Given the description of an element on the screen output the (x, y) to click on. 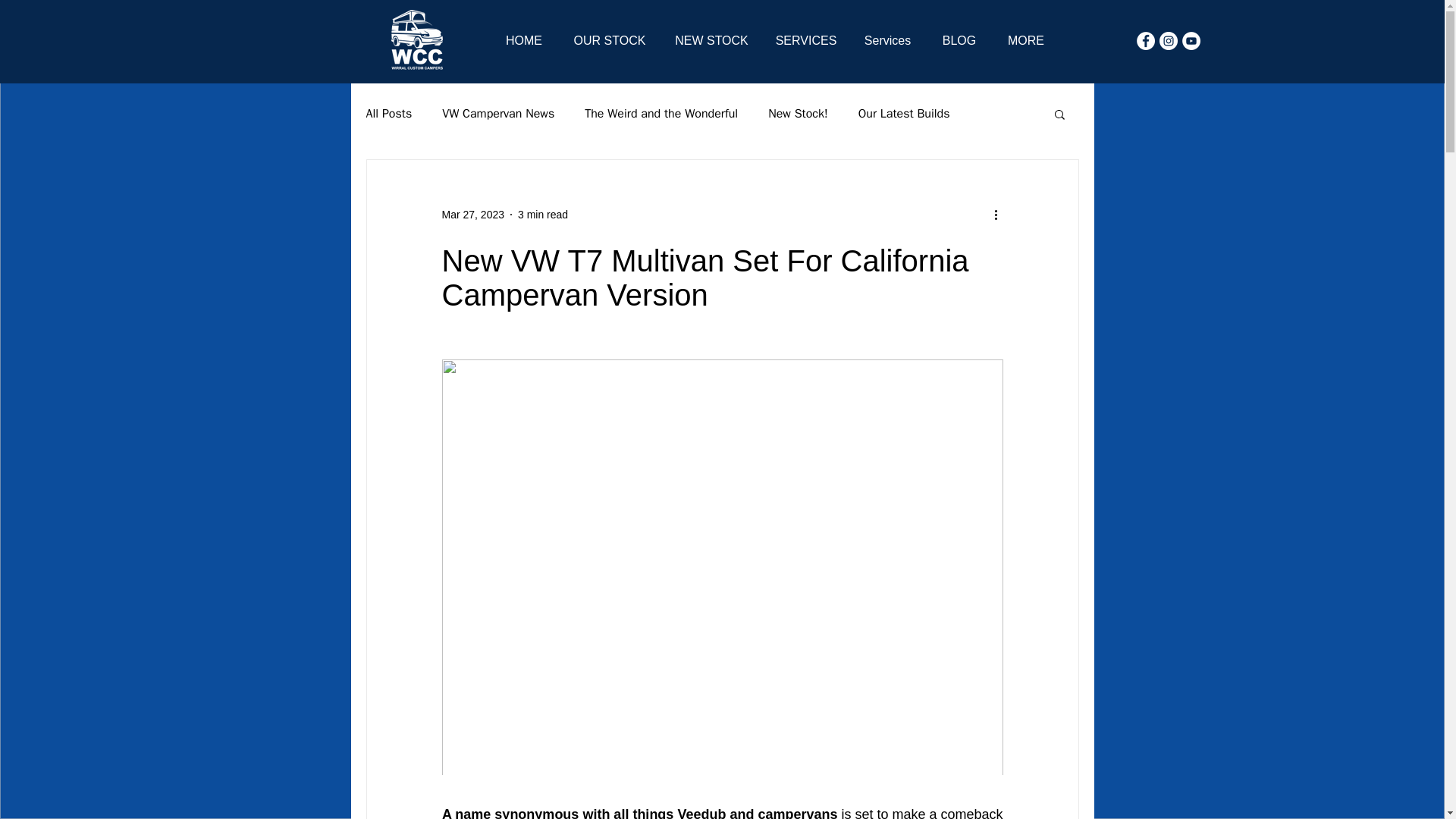
OUR STOCK (610, 40)
The Weird and the Wonderful (661, 114)
Services (887, 40)
Our Latest Builds (904, 114)
BLOG (959, 40)
SERVICES (805, 40)
VW Campervan News (498, 114)
All Posts (388, 114)
NEW STOCK (710, 40)
HOME (523, 40)
3 min read (542, 214)
New Stock! (798, 114)
Mar 27, 2023 (472, 214)
